Given the description of an element on the screen output the (x, y) to click on. 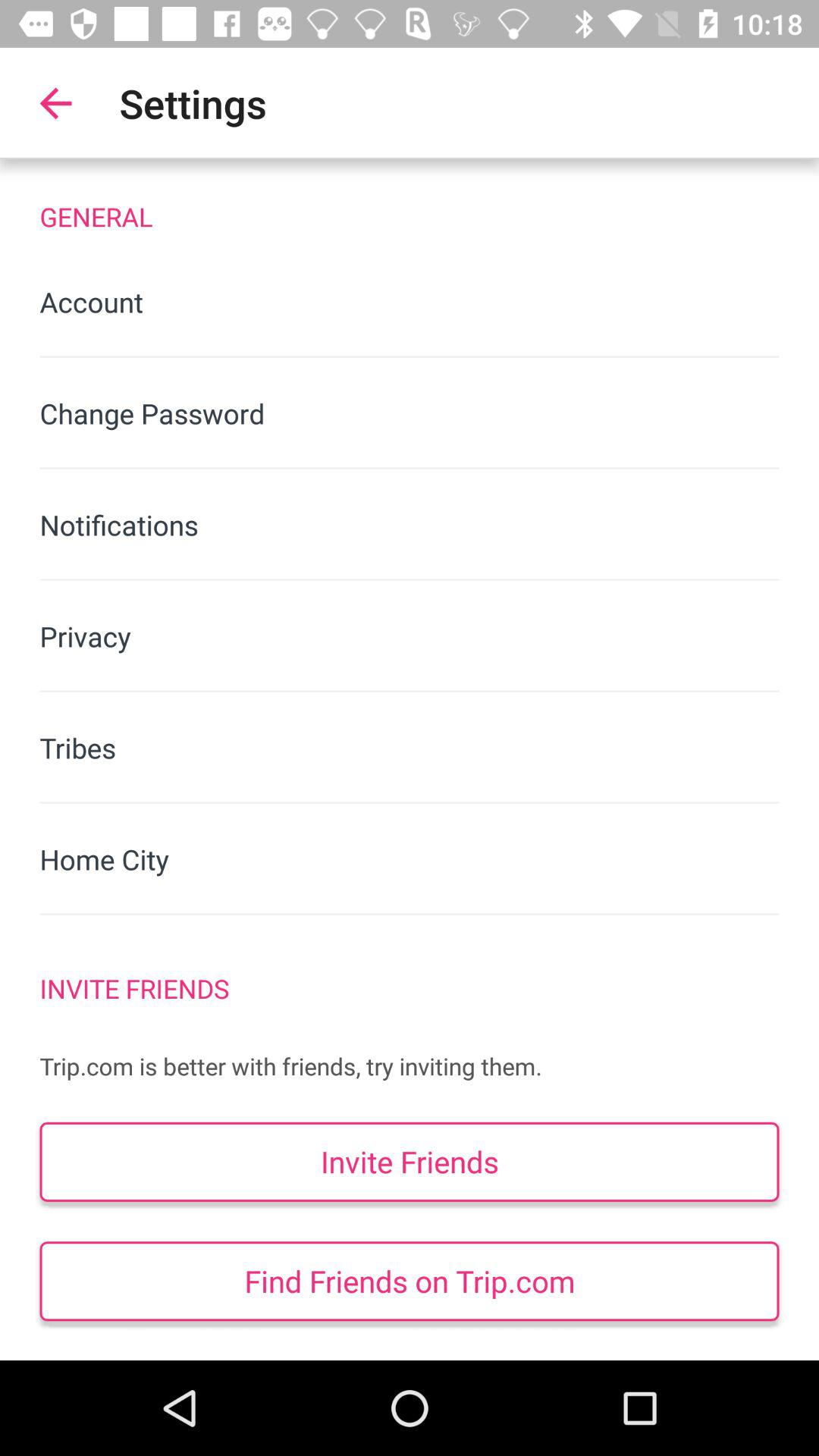
turn off app to the left of the settings icon (55, 103)
